Given the description of an element on the screen output the (x, y) to click on. 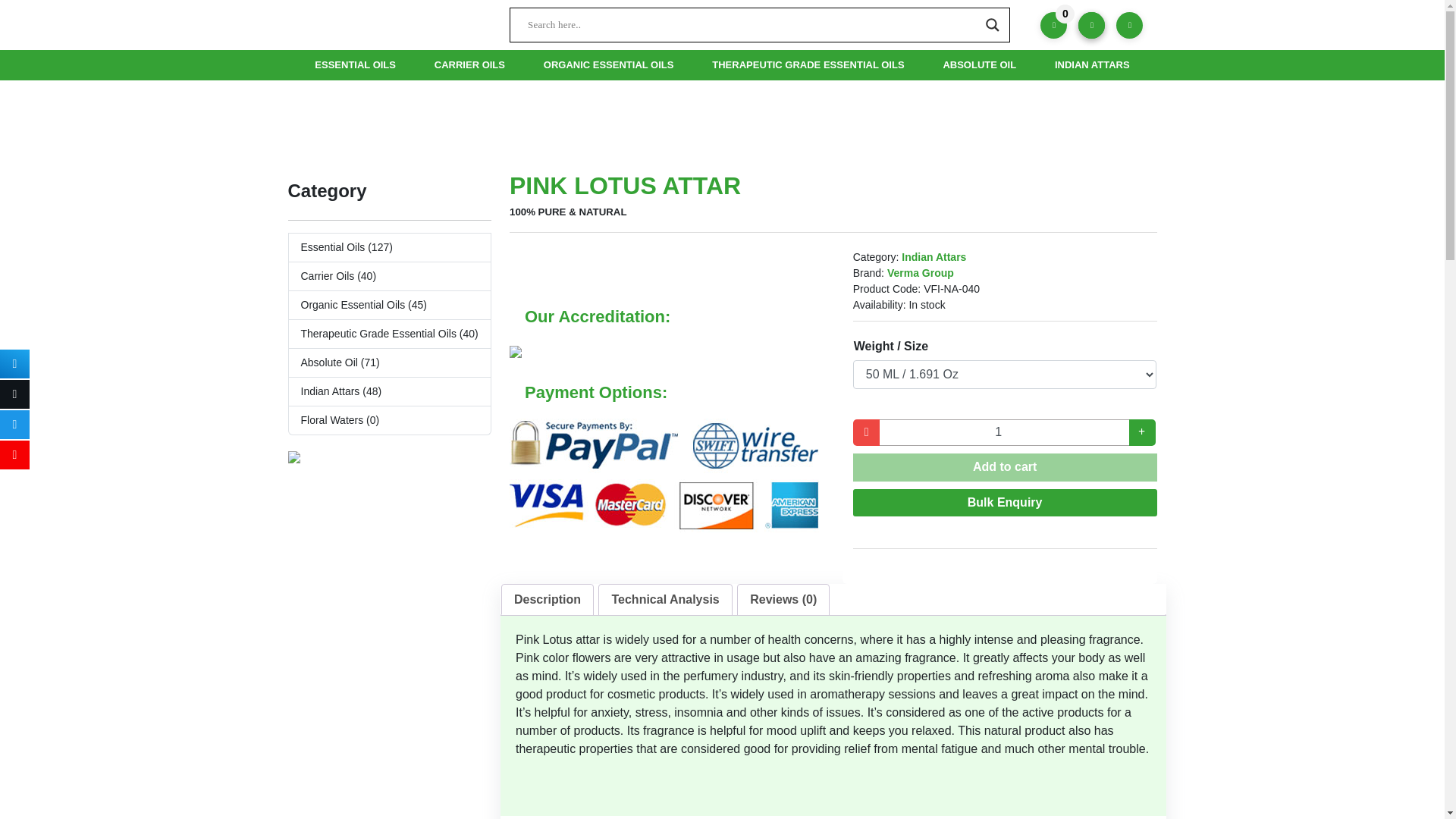
ESSENTIAL OILS (354, 64)
CARRIER OILS (469, 64)
1 (1004, 432)
0 (1054, 25)
